Given the description of an element on the screen output the (x, y) to click on. 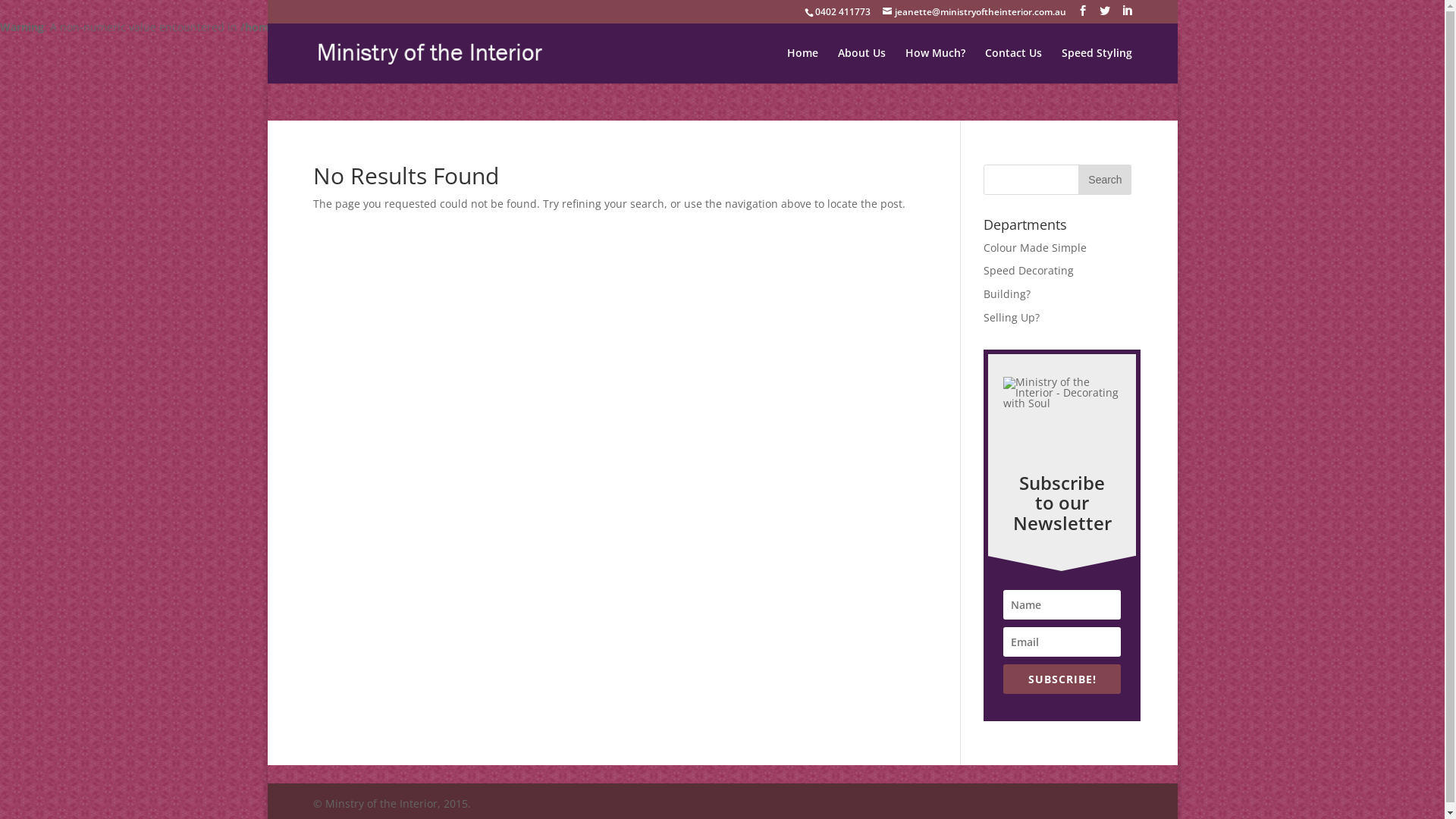
Speed Decorating Element type: text (1028, 270)
About Us Element type: text (860, 65)
Contact Us Element type: text (1012, 65)
SUBSCRIBE! Element type: text (1061, 678)
Building? Element type: text (1006, 293)
Search Element type: text (1104, 179)
Speed Styling Element type: text (1096, 65)
Selling Up? Element type: text (1011, 317)
Colour Made Simple Element type: text (1034, 247)
jeanette@ministryoftheinterior.com.au Element type: text (975, 11)
How Much? Element type: text (935, 65)
Home Element type: text (802, 65)
